Given the description of an element on the screen output the (x, y) to click on. 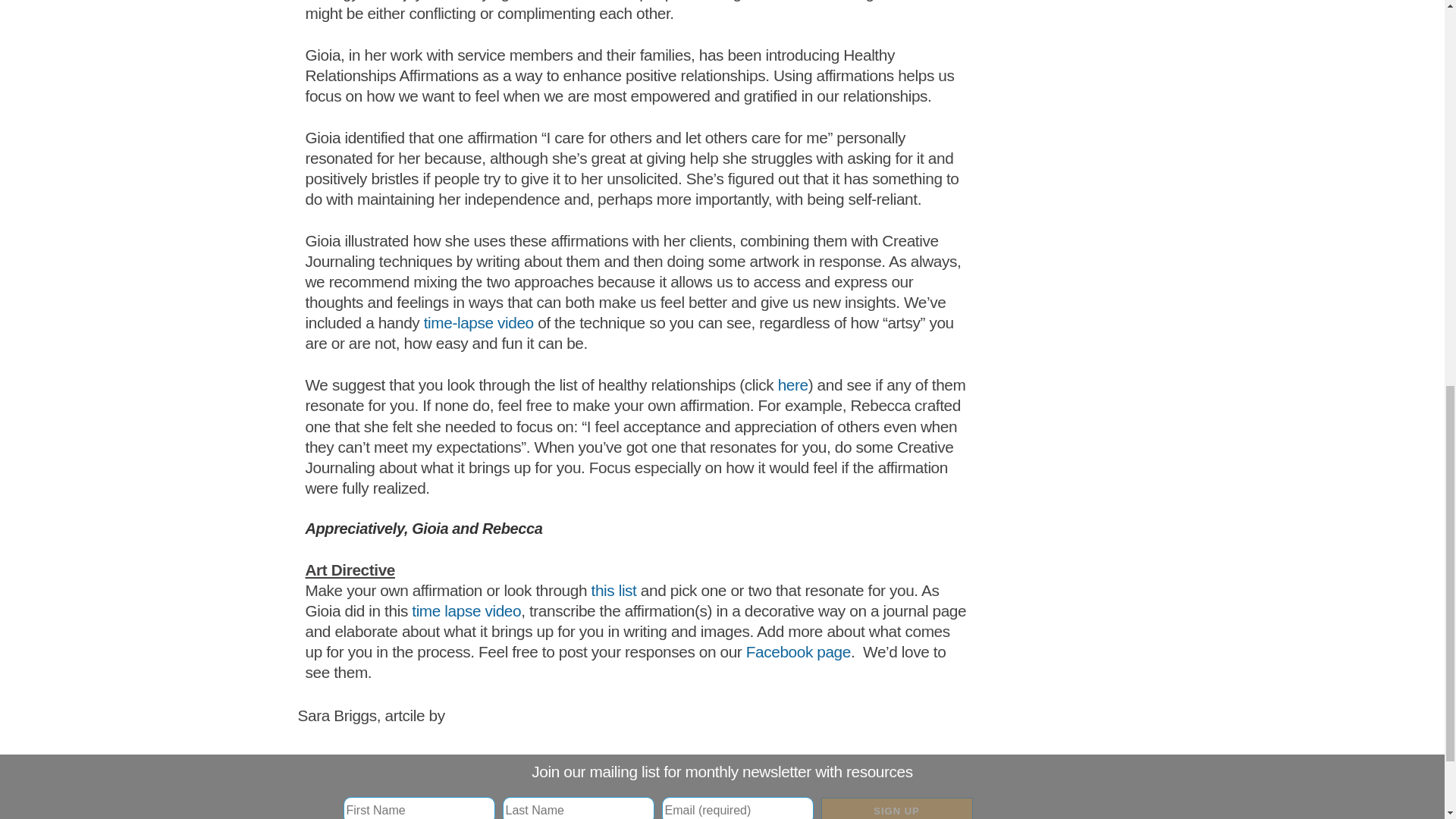
Sign up (896, 808)
